Given the description of an element on the screen output the (x, y) to click on. 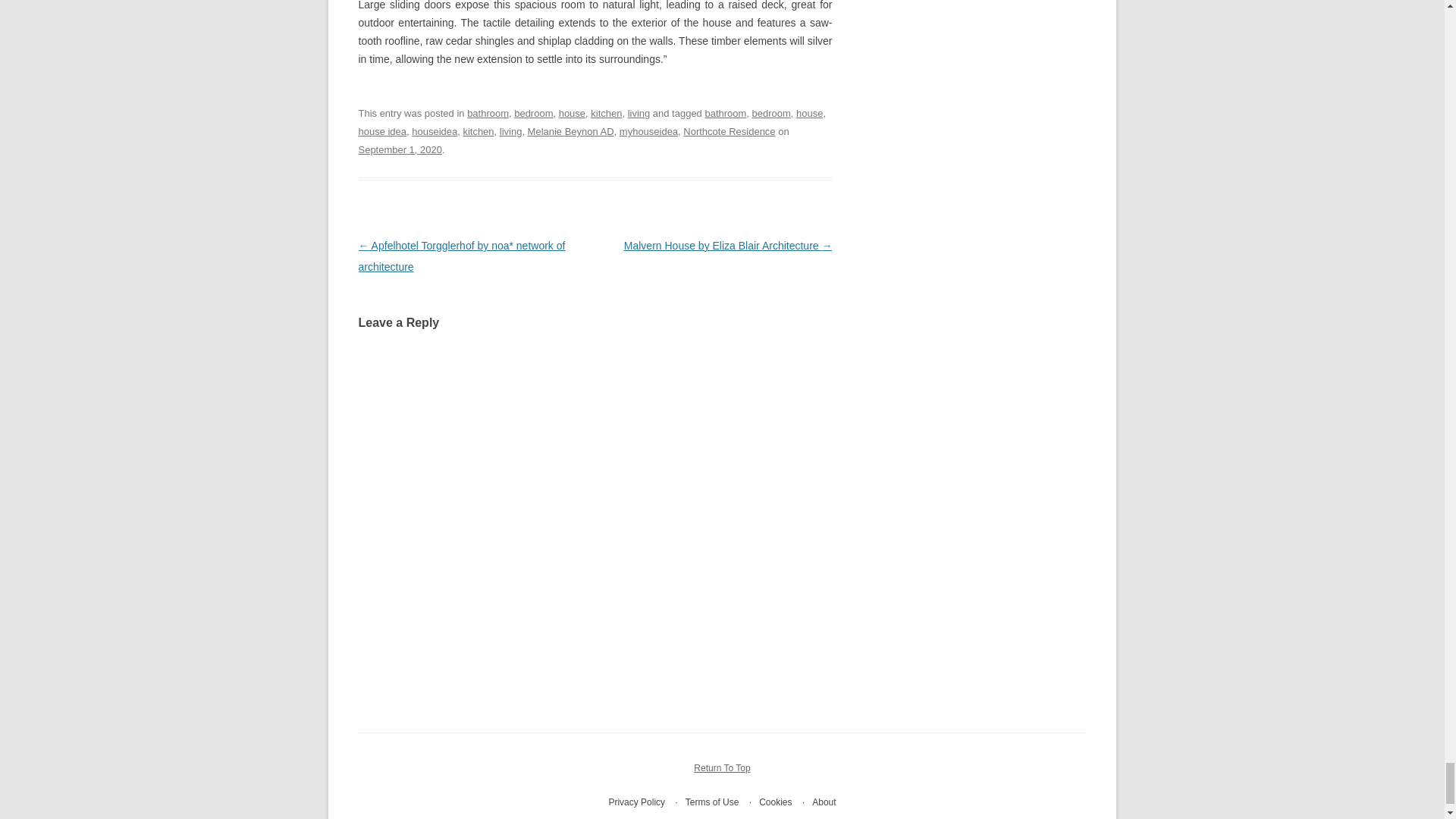
6:30 am (399, 149)
